Given the description of an element on the screen output the (x, y) to click on. 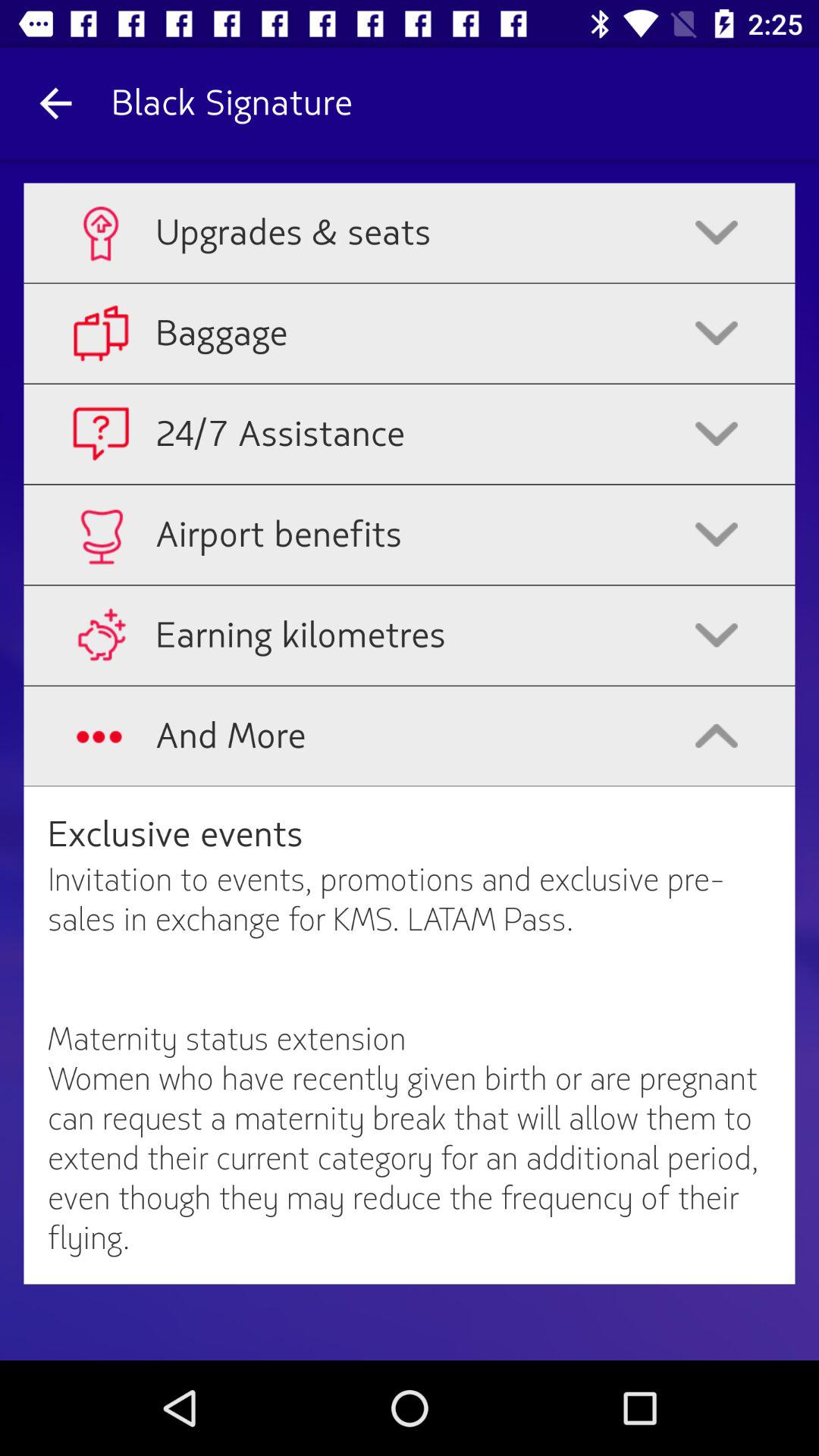
open the icon to the left of black signature item (55, 103)
